Given the description of an element on the screen output the (x, y) to click on. 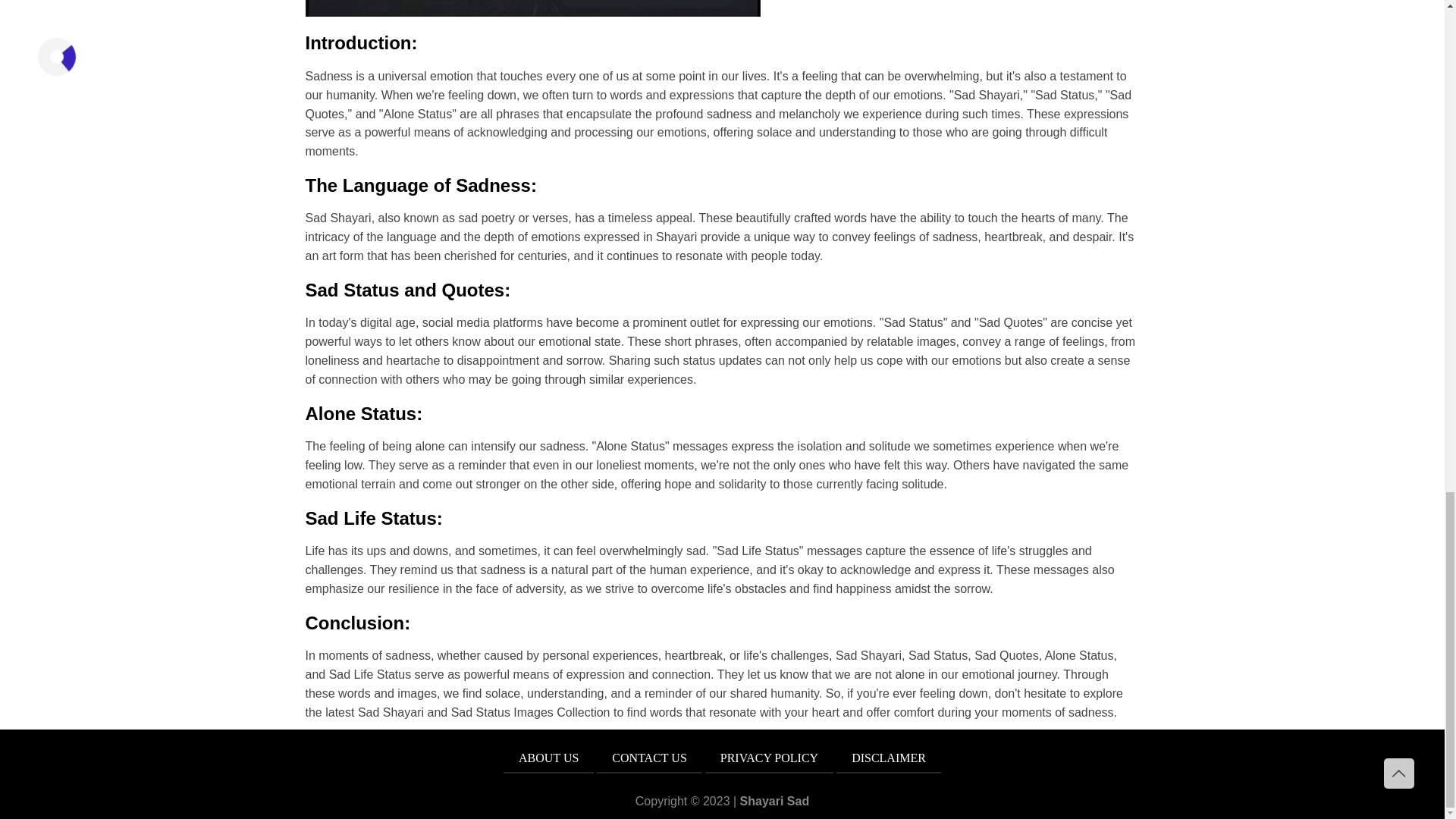
Latest Sad Shayari and Sad Status Images Collection (532, 8)
Shayari Sad (774, 800)
ABOUT US (548, 758)
CONTACT US (648, 758)
PRIVACY POLICY (768, 758)
DISCLAIMER (887, 758)
